Given the description of an element on the screen output the (x, y) to click on. 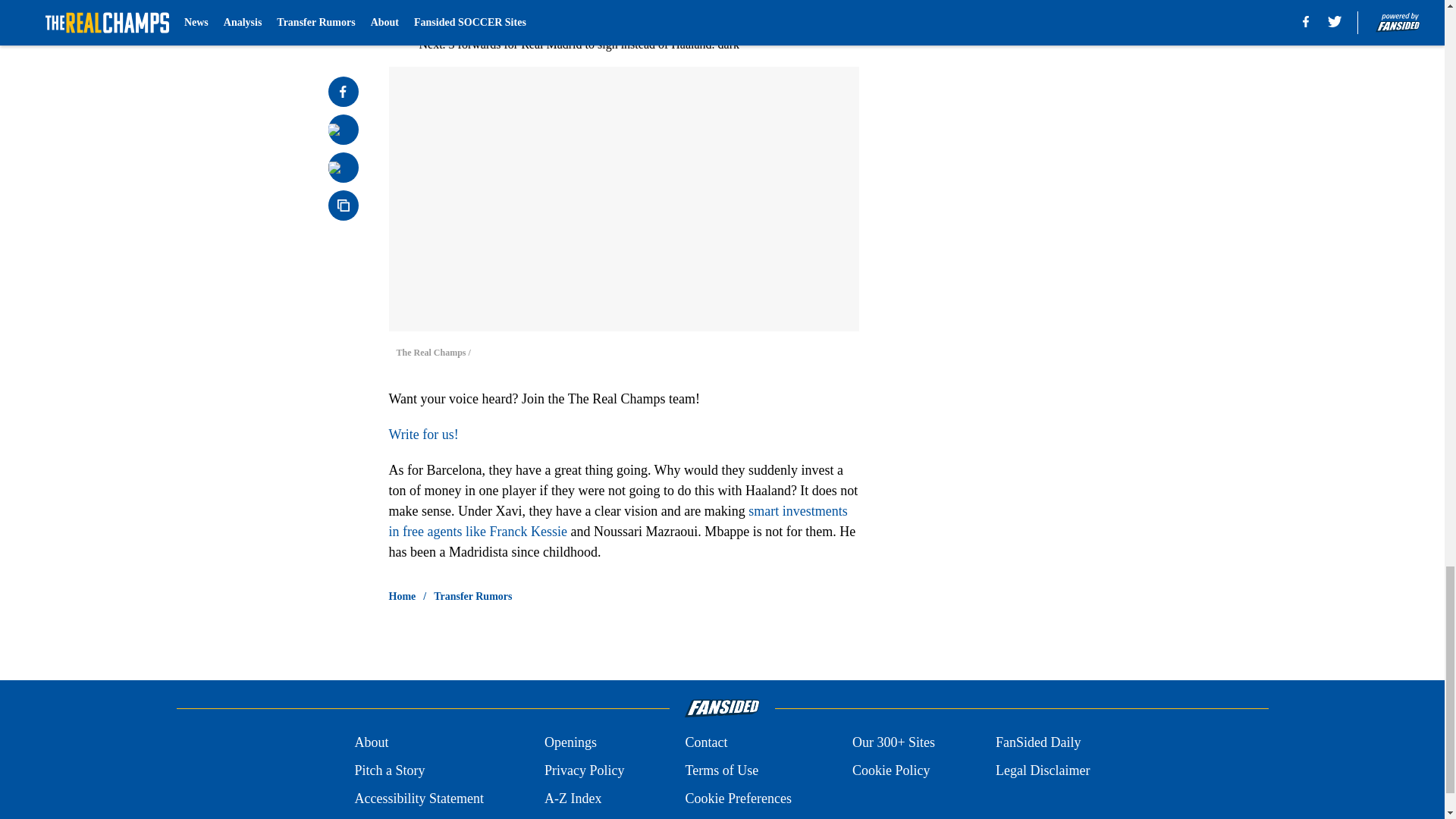
Contact (705, 742)
smart investments in free agents like Franck Kessie (617, 520)
Write for us! (423, 434)
Openings (570, 742)
Pitch a Story (389, 770)
Cookie Policy (890, 770)
About (370, 742)
Legal Disclaimer (1042, 770)
Privacy Policy (584, 770)
Home (401, 596)
